Given the description of an element on the screen output the (x, y) to click on. 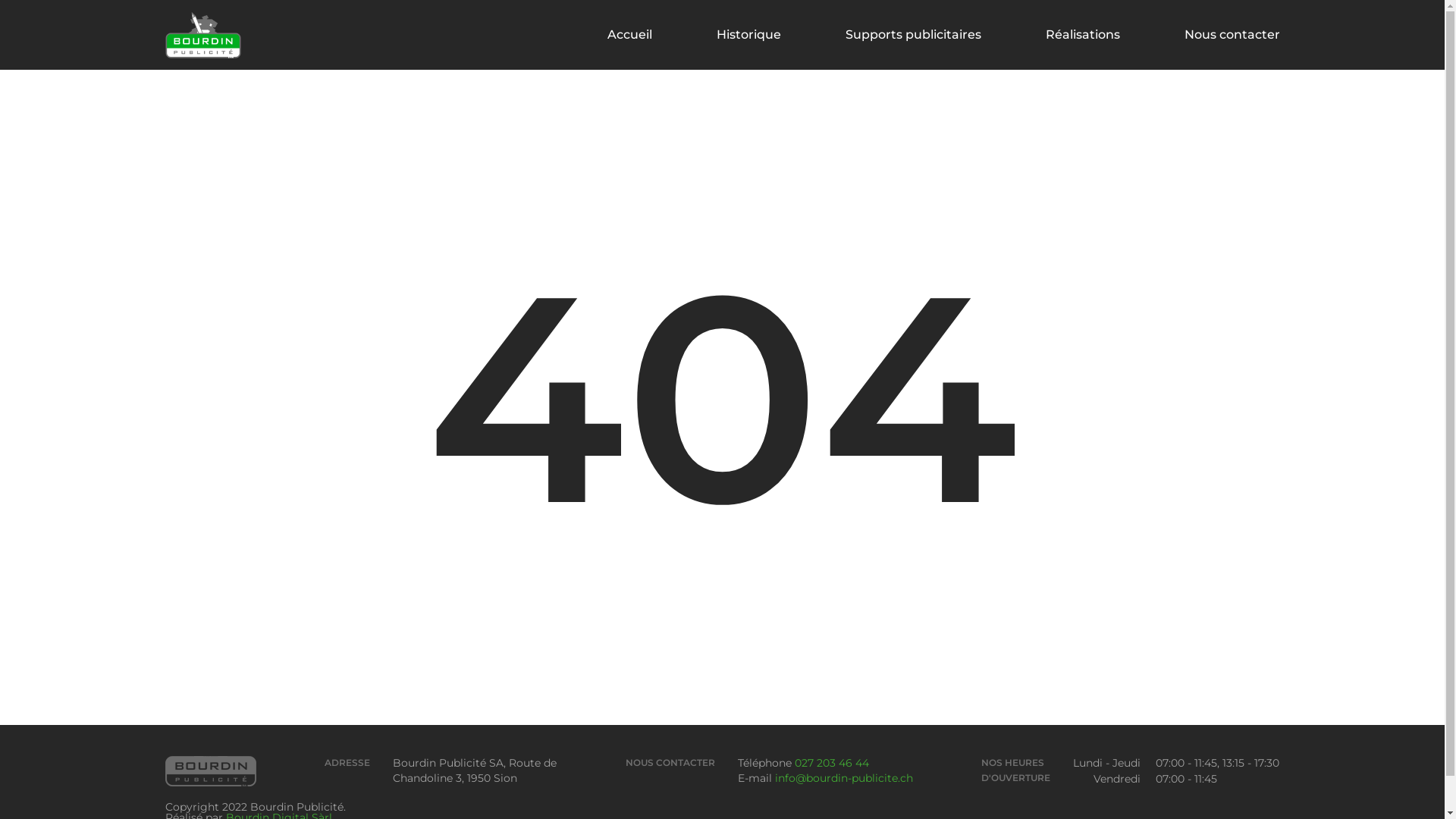
Nous contacter Element type: text (1232, 34)
Accueil Element type: text (628, 34)
027 203 46 44 Element type: text (831, 762)
Historique Element type: text (747, 34)
Supports publicitaires Element type: text (912, 34)
info@bourdin-publicite.ch Element type: text (844, 777)
